Given the description of an element on the screen output the (x, y) to click on. 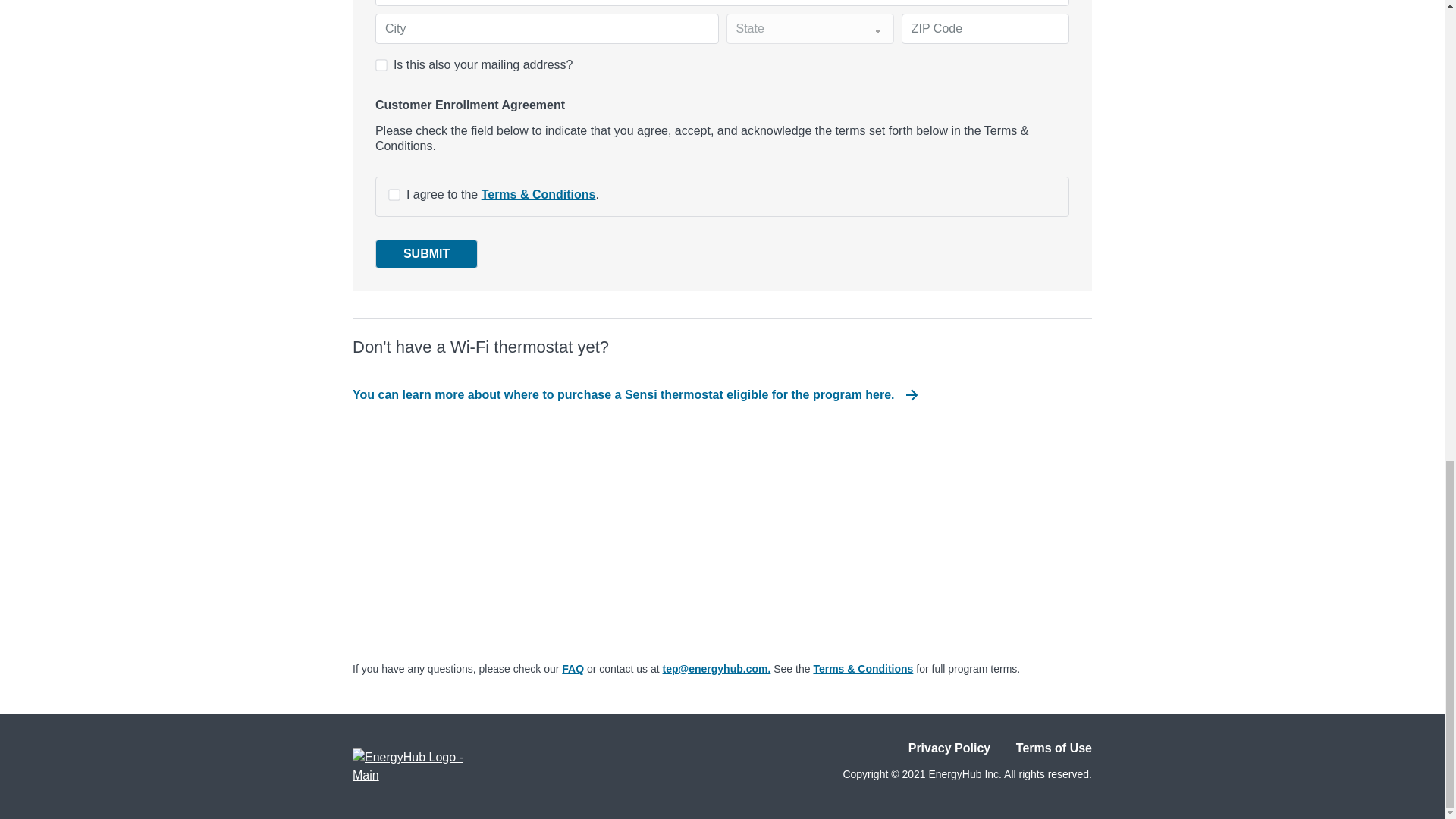
Terms of Use (1054, 748)
Privacy Policy (949, 748)
FAQ (572, 668)
SUBMIT (426, 253)
SUBMIT (426, 253)
